Given the description of an element on the screen output the (x, y) to click on. 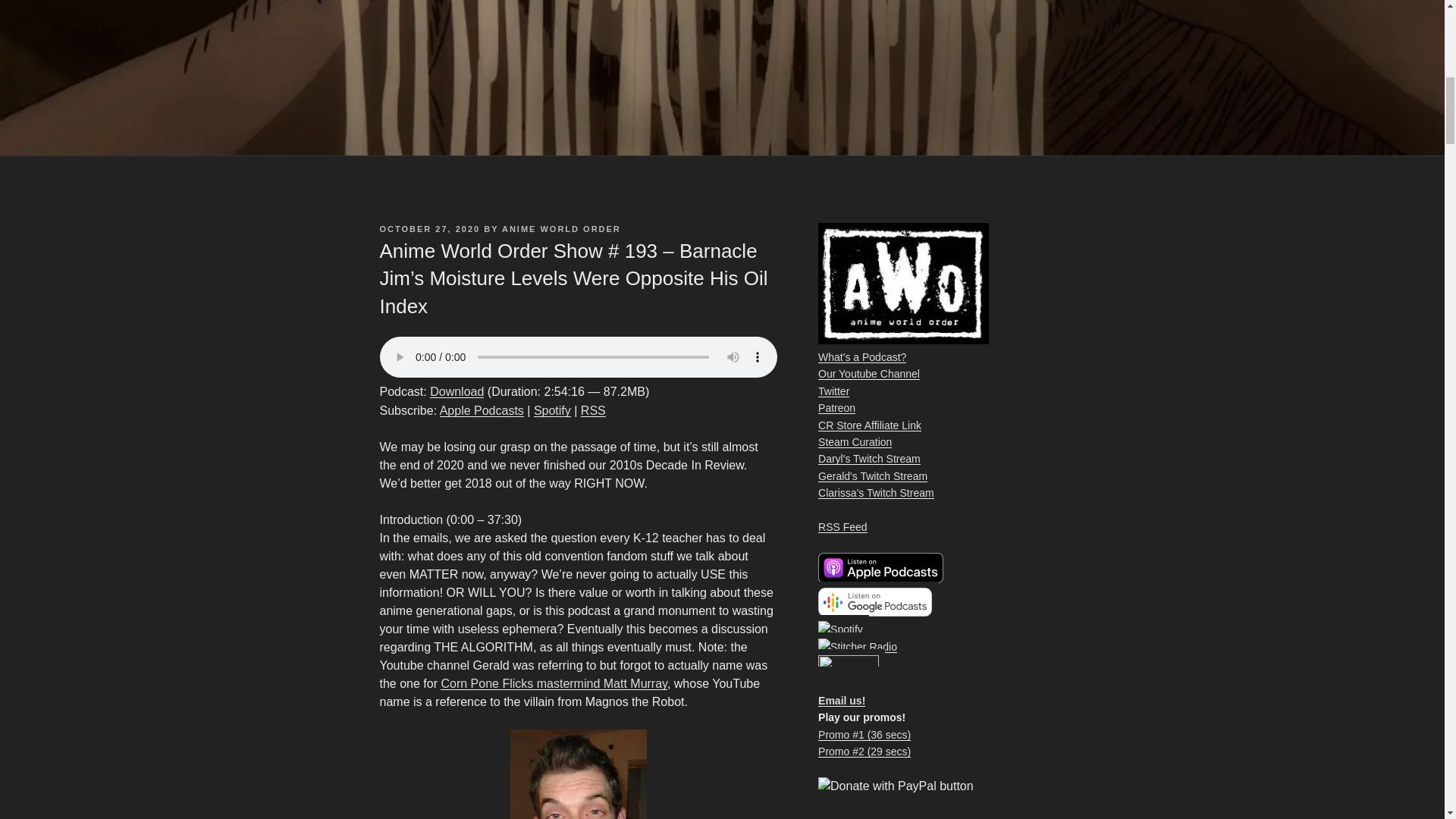
Spotify (552, 410)
OCTOBER 27, 2020 (429, 228)
Corn Pone Flicks mastermind Matt Murray (553, 683)
Apple Podcasts (481, 410)
Download (456, 391)
Subscribe on Apple Podcasts (481, 410)
Anime World Order (848, 666)
Subscribe via RSS (592, 410)
ANIME WORLD ORDER (561, 228)
RSS (592, 410)
Download (456, 391)
Subscribe on Spotify (552, 410)
PayPal - The safer, easier way to pay online! (896, 786)
